Given the description of an element on the screen output the (x, y) to click on. 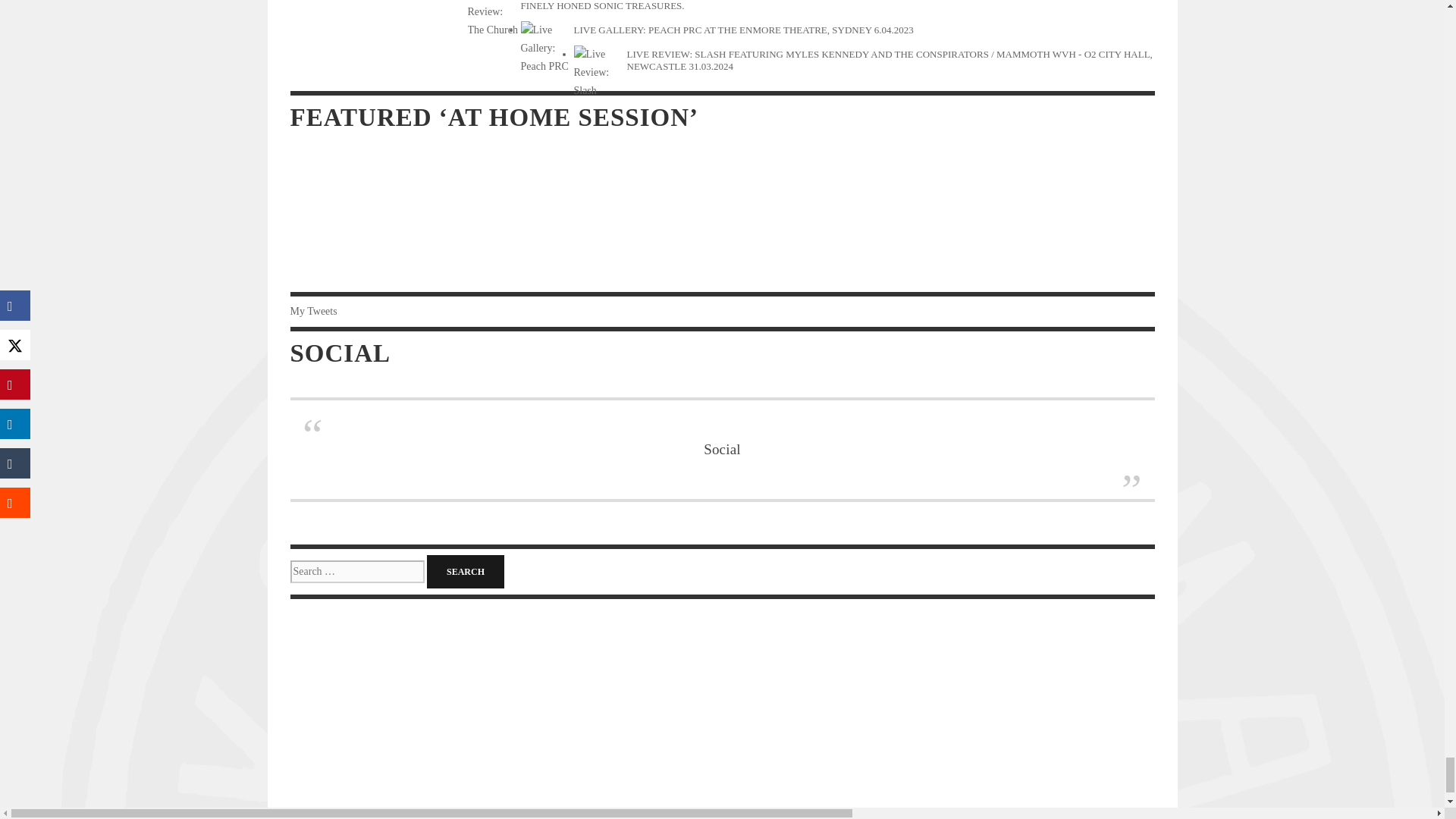
Search (464, 571)
Search (464, 571)
